Given the description of an element on the screen output the (x, y) to click on. 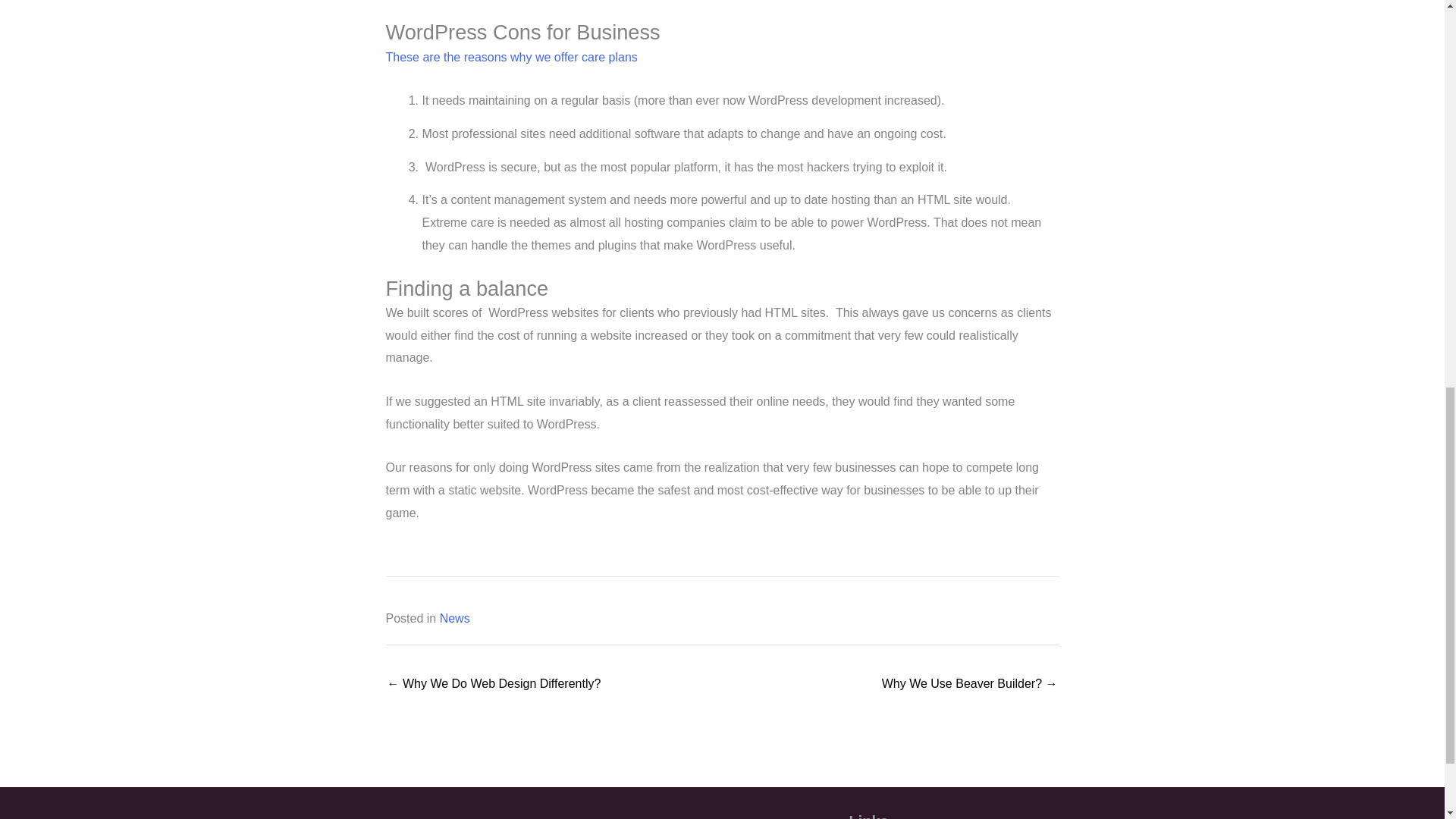
These are the reasons why we offer care plans (511, 56)
News (454, 617)
simple logo4 (341, 816)
